Given the description of an element on the screen output the (x, y) to click on. 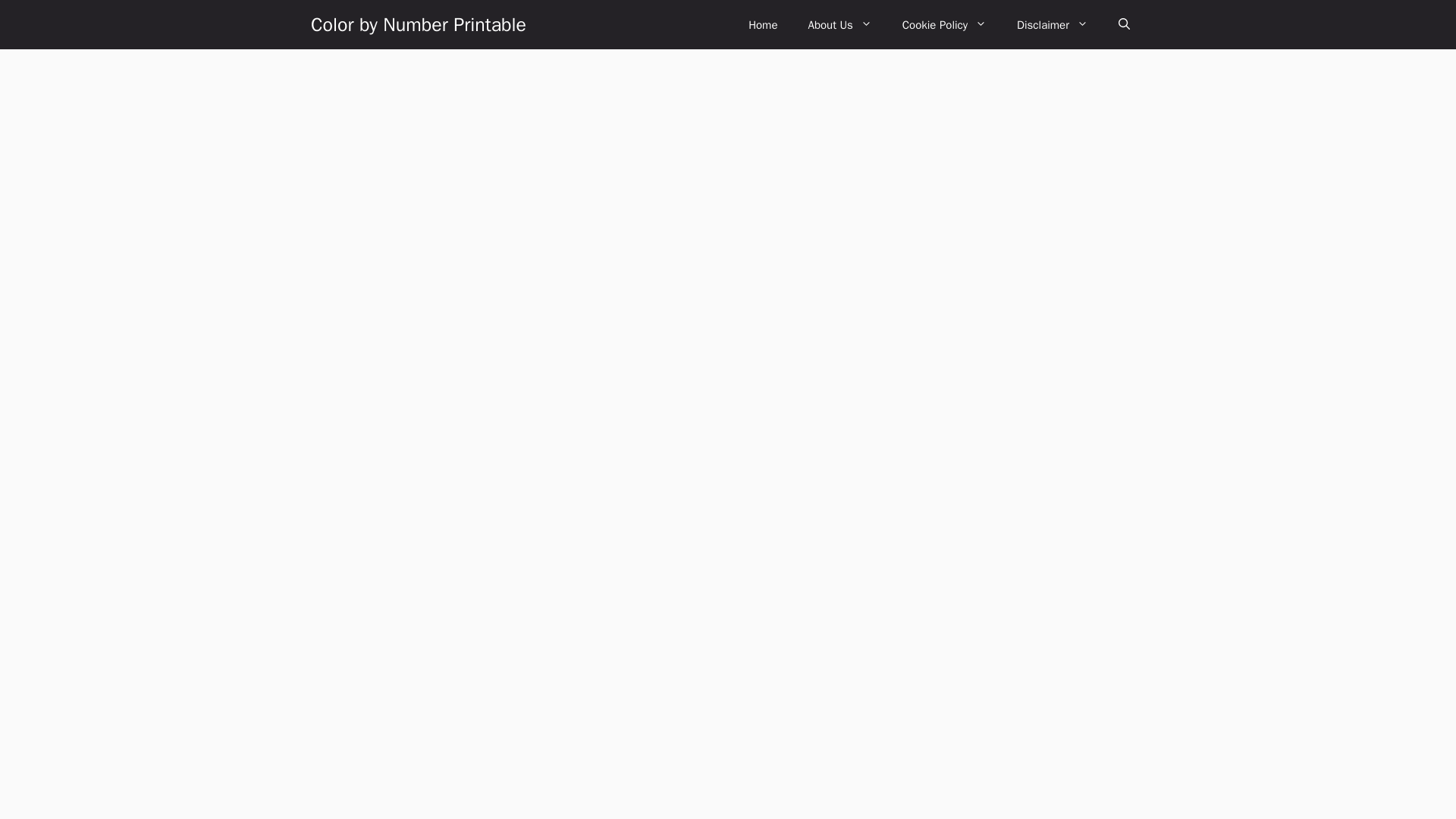
Home (762, 23)
Cookie Policy (943, 23)
About Us (839, 23)
Disclaimer (1052, 23)
